Given the description of an element on the screen output the (x, y) to click on. 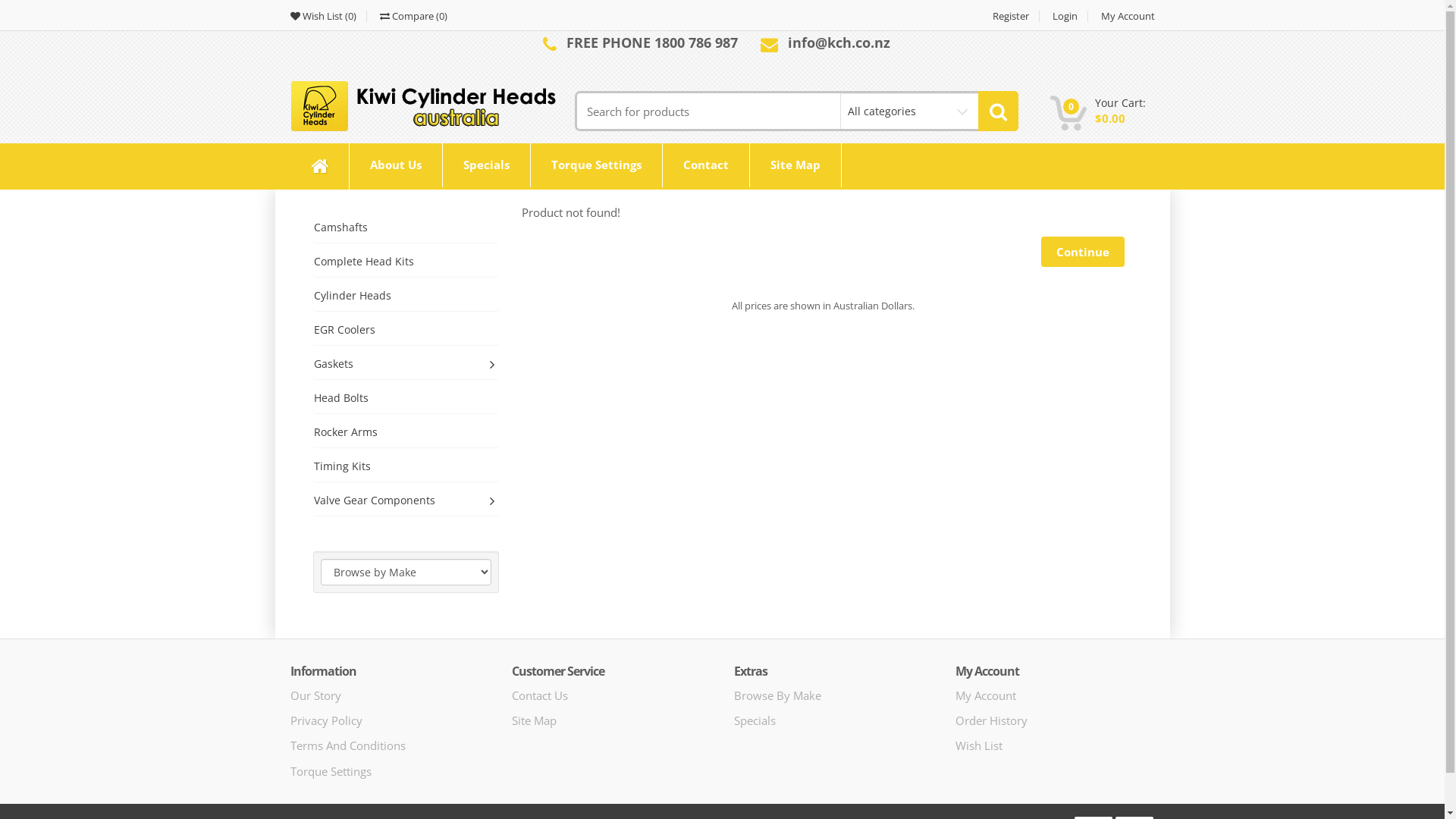
Wish List (0) Element type: text (327, 15)
Login Element type: text (1064, 15)
Cylinder Heads Element type: text (405, 295)
Kiwi Cylinder Heads Pty Ltd Element type: hover (425, 106)
Valve Gear Components Element type: text (405, 500)
Rocker Arms Element type: text (405, 431)
Compare (0) Element type: text (408, 15)
Browse By Make Element type: text (777, 694)
Site Map Element type: text (794, 164)
Terms And Conditions Element type: text (346, 745)
Contact Us Element type: text (539, 694)
Site Map Element type: text (533, 720)
Torque Settings Element type: text (329, 770)
EGR Coolers Element type: text (405, 329)
Specials Element type: text (754, 720)
Specials Element type: text (486, 164)
Timing Kits Element type: text (405, 465)
Privacy Policy Element type: text (325, 720)
Contact Element type: text (705, 164)
Register Element type: text (1010, 15)
Torque Settings Element type: text (596, 164)
My Account Element type: text (1122, 15)
Wish List Element type: text (978, 745)
About Us Element type: text (394, 164)
Continue Element type: text (1081, 251)
Our Story Element type: text (314, 694)
Camshafts Element type: text (405, 227)
Order History Element type: text (991, 720)
Gaskets Element type: text (405, 363)
Complete Head Kits Element type: text (405, 261)
Head Bolts Element type: text (405, 397)
My Account Element type: text (985, 694)
